Given the description of an element on the screen output the (x, y) to click on. 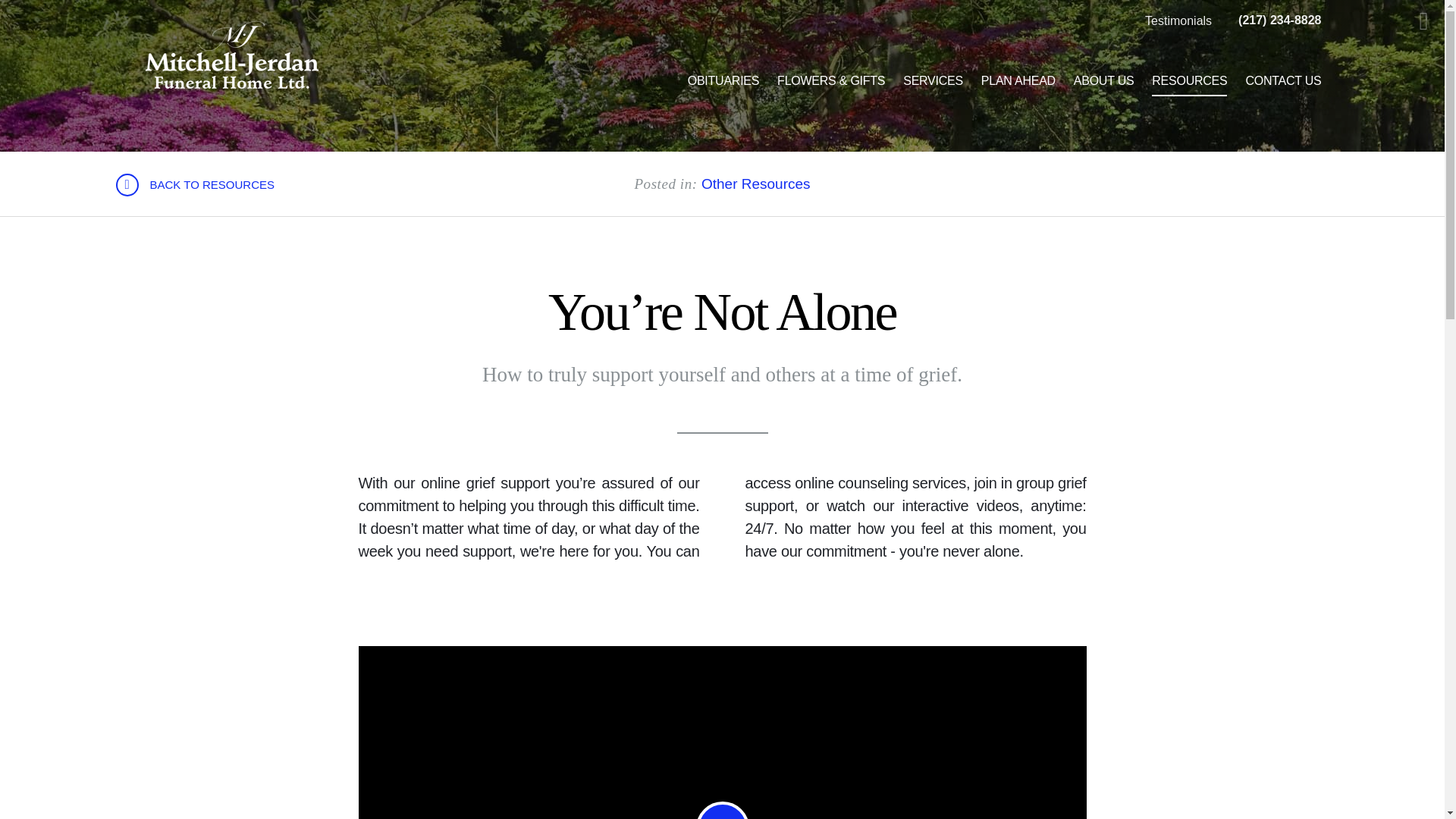
SERVICES (933, 81)
PLAN AHEAD (1018, 81)
Skip to content (32, 15)
Testimonials (1177, 21)
ABOUT US (1103, 81)
BACK TO RESOURCES (195, 184)
CONTACT US (1282, 81)
Play (722, 810)
OBITUARIES (723, 81)
RESOURCES (1189, 81)
